Given the description of an element on the screen output the (x, y) to click on. 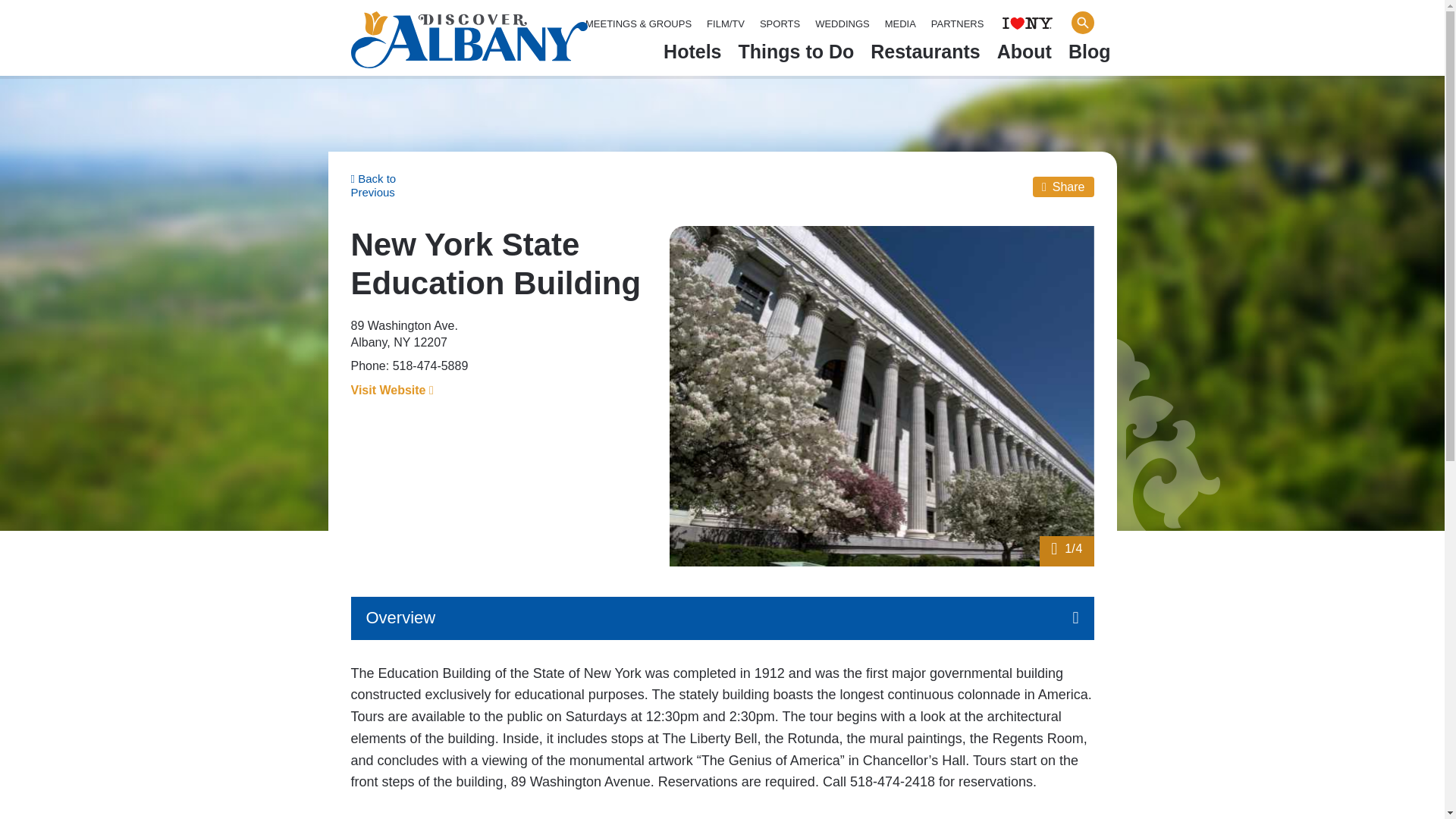
Media (900, 24)
Hotels (691, 55)
Things to Do (796, 55)
Weddings (842, 24)
Things to Do (796, 55)
PARTNERS (957, 24)
MEDIA (900, 24)
Sports (779, 24)
Partners (957, 24)
WEDDINGS (842, 24)
Hotels (691, 55)
SPORTS (779, 24)
